Given the description of an element on the screen output the (x, y) to click on. 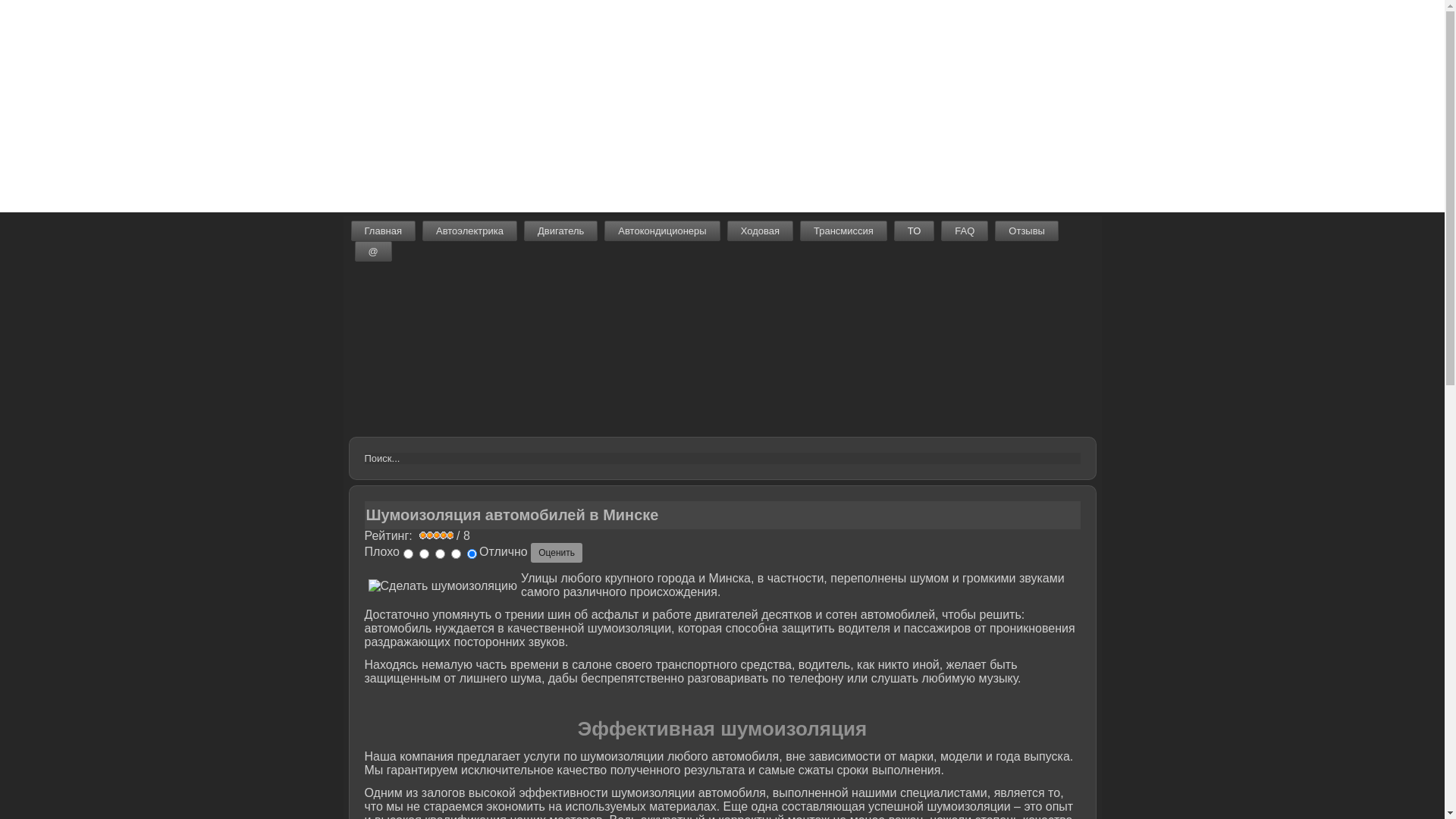
@ Element type: text (373, 251)
Advertisement Element type: hover (455, 106)
FAQ Element type: text (964, 230)
